Given the description of an element on the screen output the (x, y) to click on. 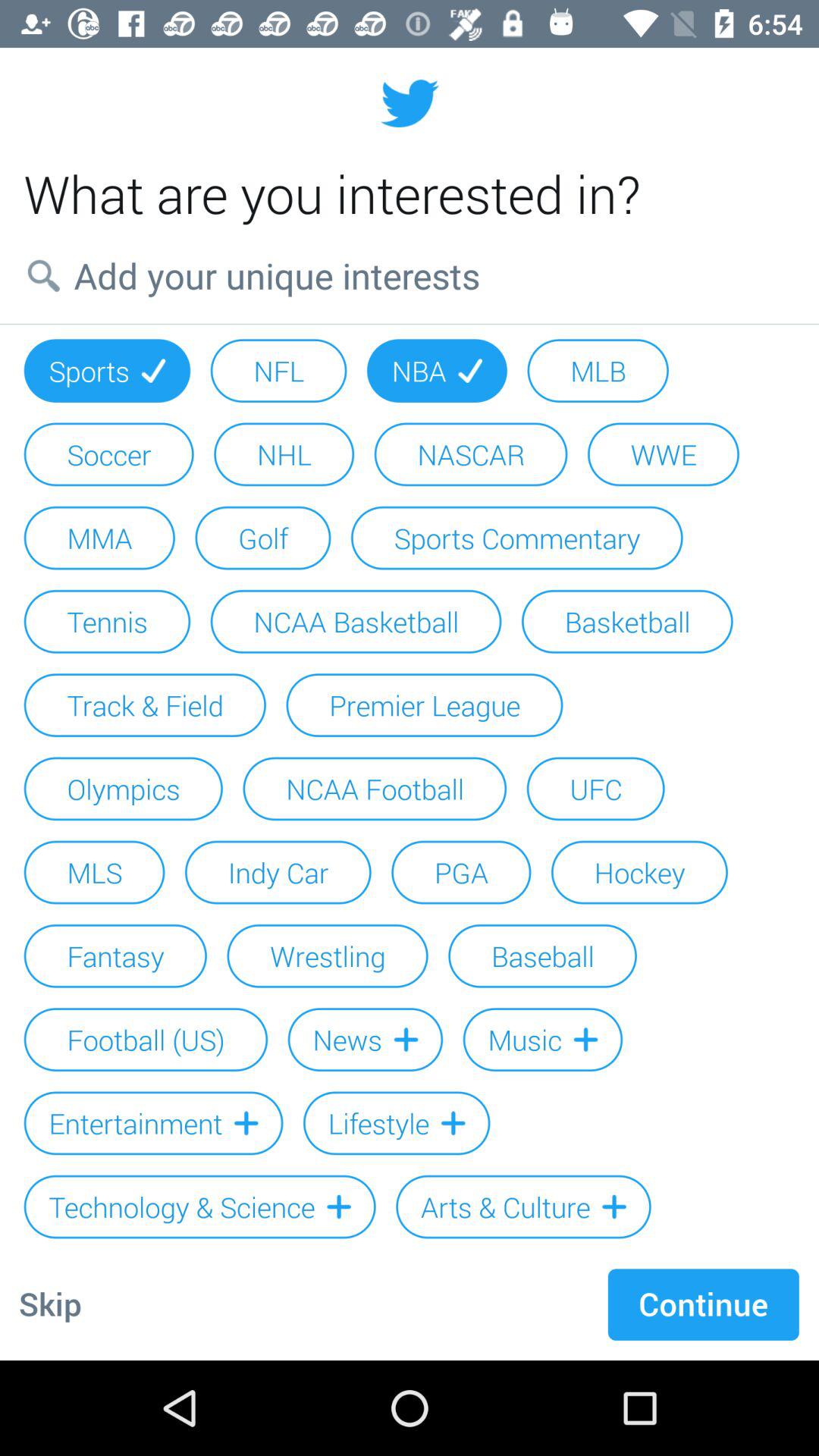
jump to wwe (663, 454)
